Given the description of an element on the screen output the (x, y) to click on. 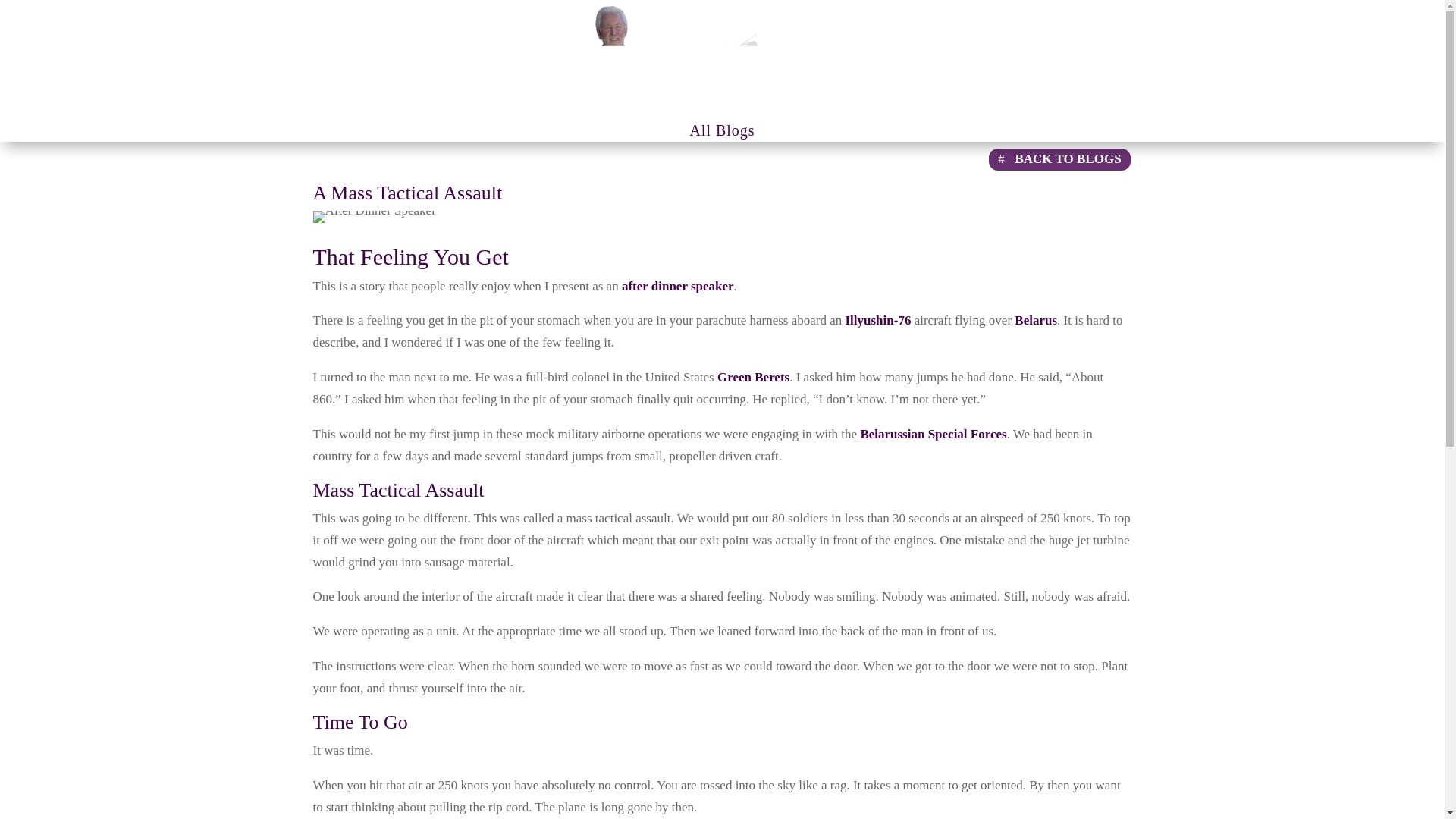
after dinner speaker (677, 286)
BACK TO BLOGS (1059, 159)
All Blogs (721, 133)
Wayne Schoenberg (721, 56)
Wayne and IL 76 (374, 216)
Illyushin-76 (877, 319)
Belarus (1035, 319)
Belarussian Special Forces (933, 433)
Green Berets (753, 377)
